Given the description of an element on the screen output the (x, y) to click on. 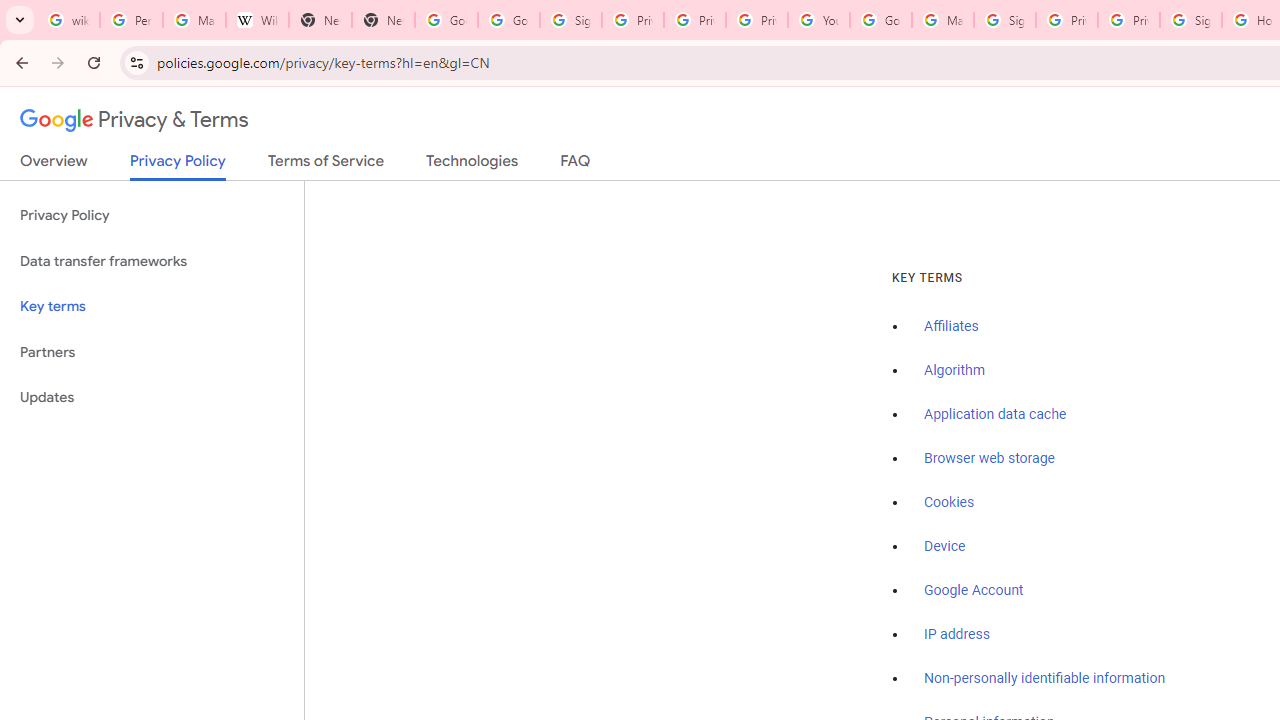
Partners (152, 352)
Google Account (974, 590)
New Tab (383, 20)
Non-personally identifiable information (1045, 679)
Device (945, 546)
Cookies (949, 502)
Application data cache (995, 415)
Algorithm (954, 371)
